Given the description of an element on the screen output the (x, y) to click on. 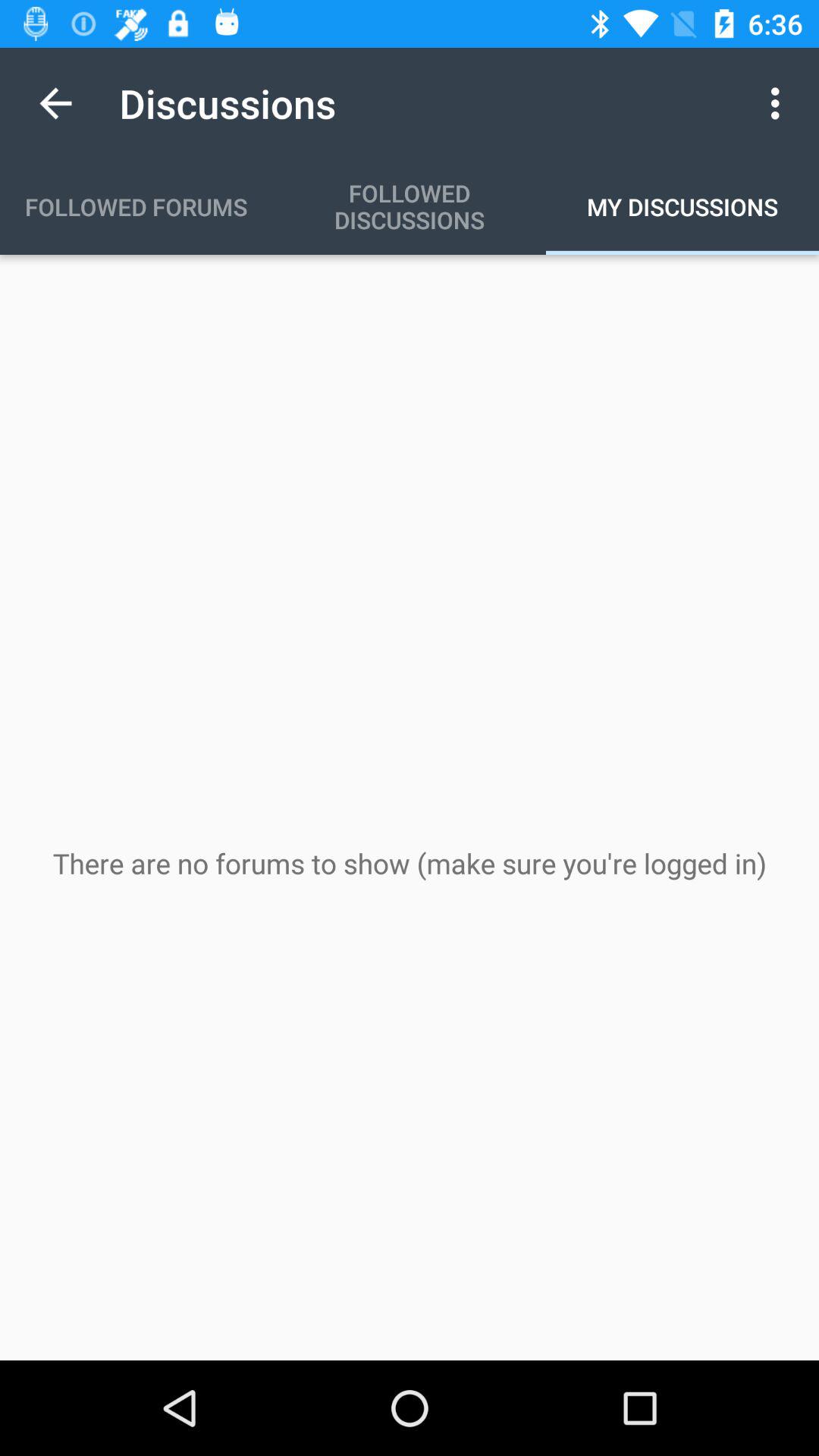
select icon above my discussions item (779, 103)
